Given the description of an element on the screen output the (x, y) to click on. 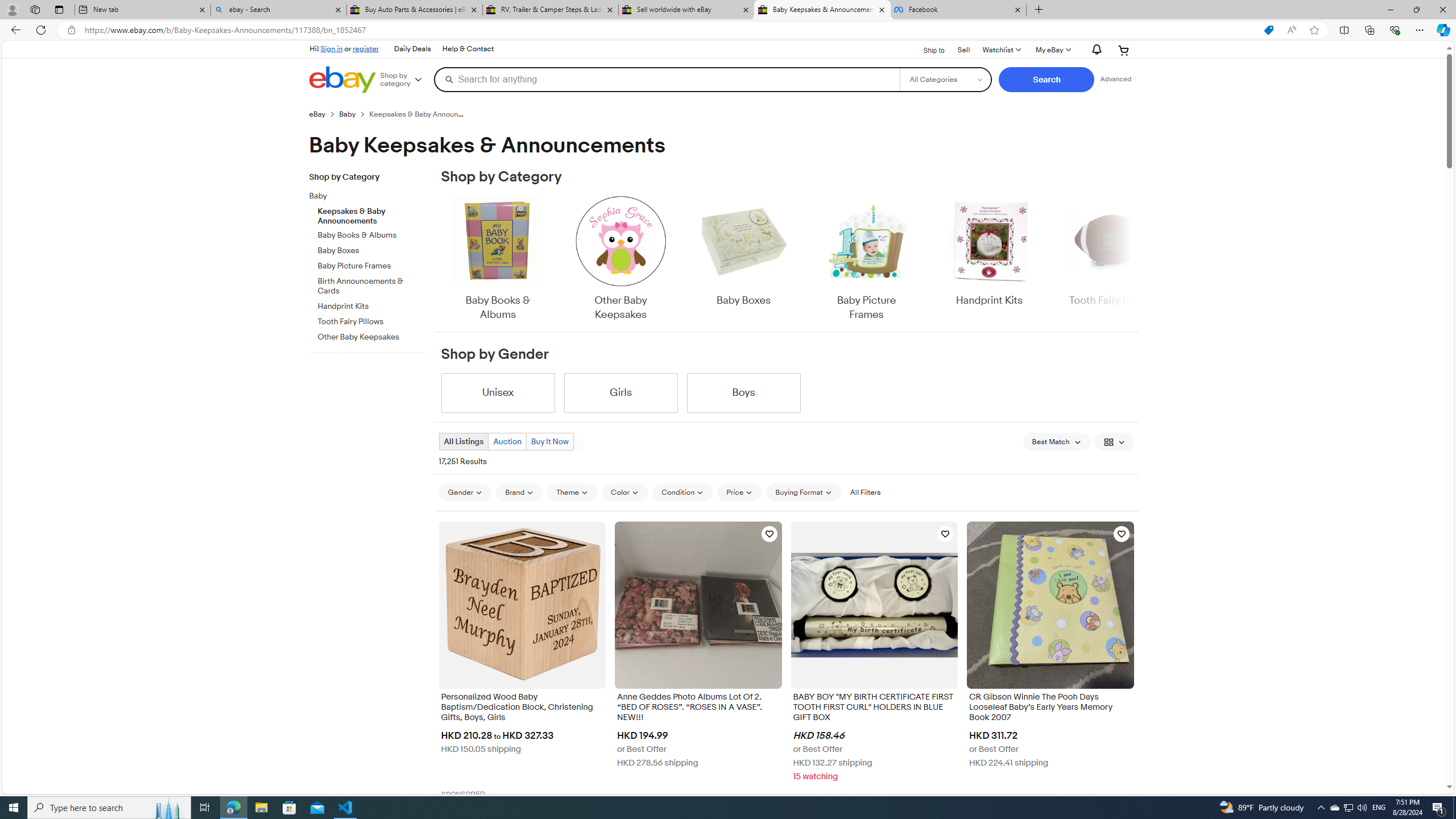
Color (624, 492)
Baby (371, 194)
eBay Home (341, 79)
Go to previous slide (439, 258)
register (366, 48)
Girls (620, 392)
Price (739, 492)
eBay Home (341, 79)
This site has coupons! Shopping in Microsoft Edge (1268, 29)
Sign in (331, 48)
